Given the description of an element on the screen output the (x, y) to click on. 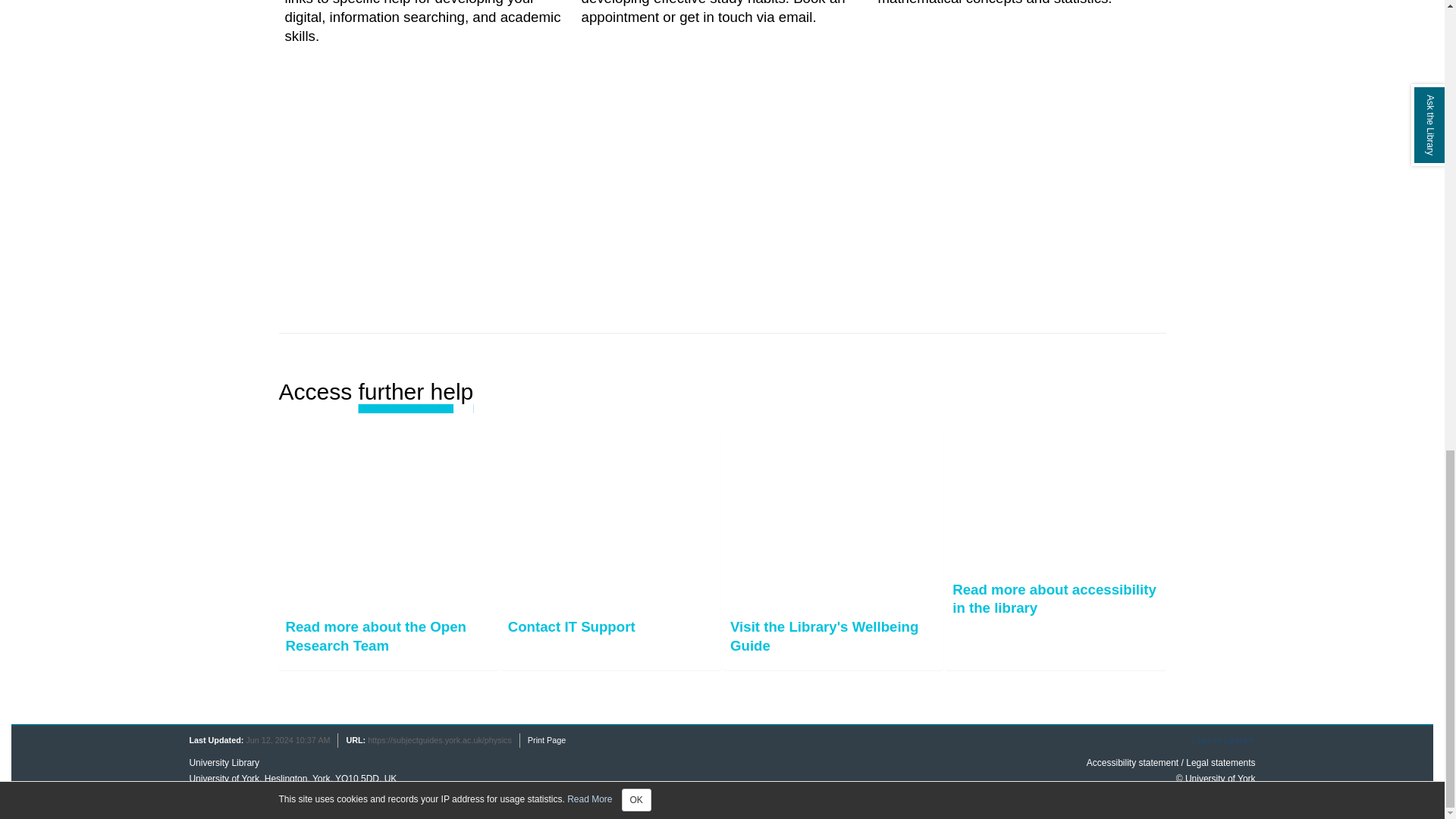
YouTube video player (935, 192)
YouTube video player (508, 192)
